Given the description of an element on the screen output the (x, y) to click on. 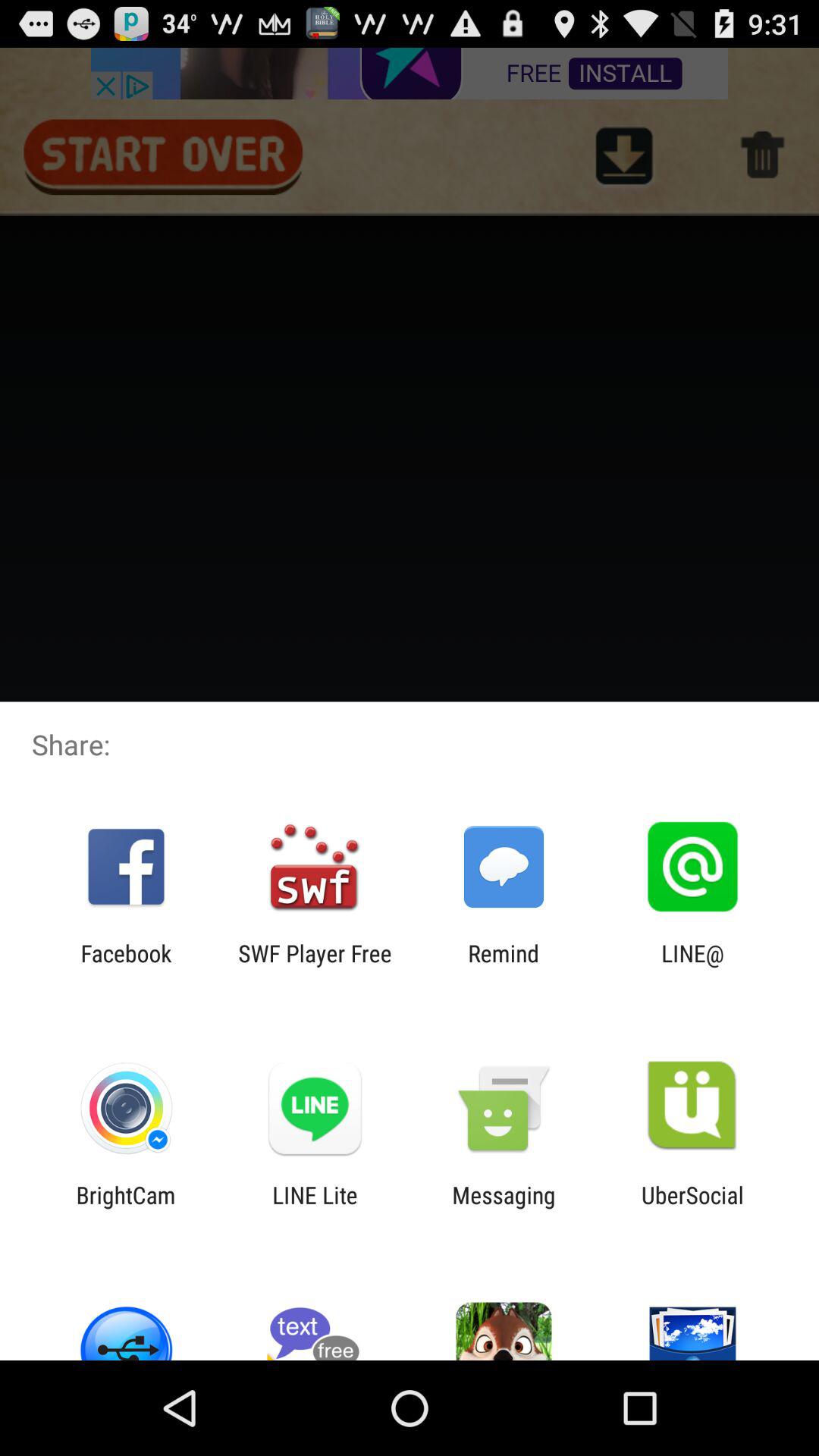
turn off the item next to brightcam (314, 1208)
